Given the description of an element on the screen output the (x, y) to click on. 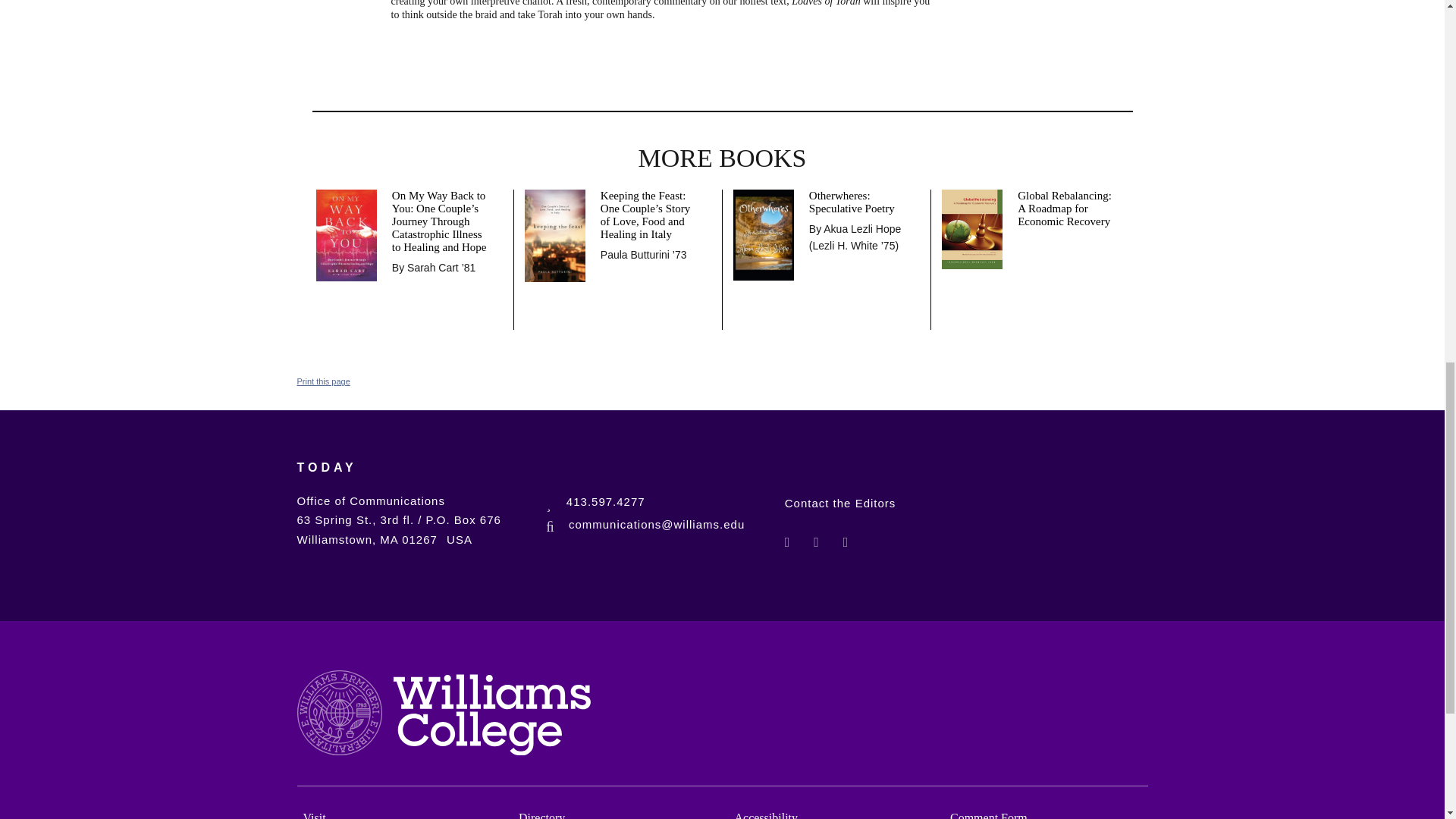
Otherwheres: Speculative Poetry (858, 202)
Global Rebalancing: A Roadmap for Economic Recovery (972, 227)
Otherwheres: Speculative Poetry (762, 234)
Go to Today (326, 477)
Global Rebalancing: A Roadmap for Economic Recovery (1066, 208)
Go to Williams College (444, 715)
